Given the description of an element on the screen output the (x, y) to click on. 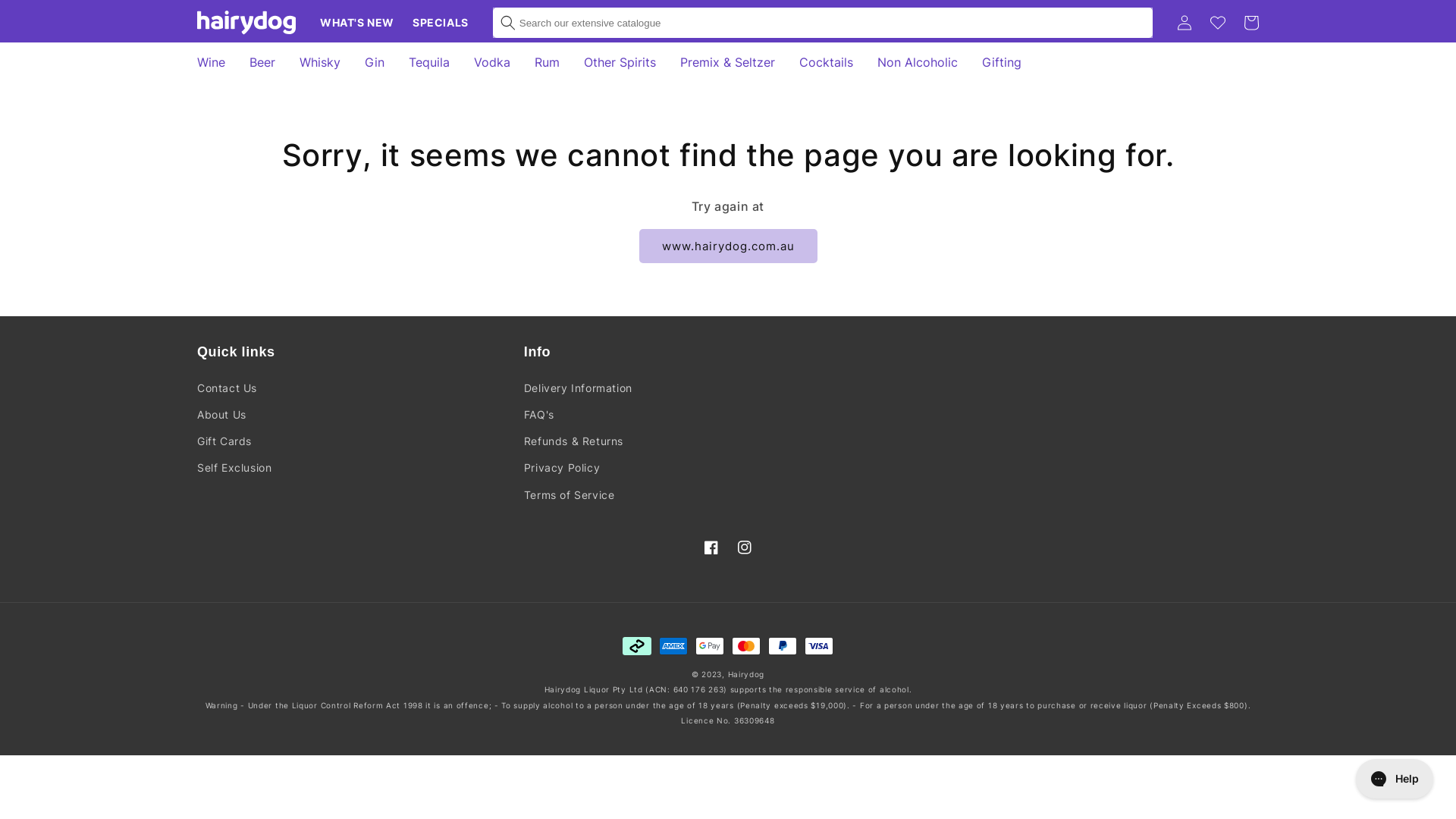
Privacy Policy Element type: text (561, 467)
Gift Cards Element type: text (224, 440)
Log in Element type: text (1184, 22)
FAQ's Element type: text (539, 414)
About Us Element type: text (221, 414)
Instagram Element type: text (744, 547)
Cart Element type: text (1250, 22)
SPECIALS Element type: text (440, 22)
Hairydog Element type: text (746, 673)
www.hairydog.com.au Element type: text (727, 246)
Contact Us Element type: text (227, 389)
Self Exclusion Element type: text (234, 467)
Terms of Service Element type: text (569, 494)
Gorgias live chat messenger Element type: hover (1394, 778)
Delivery Information Element type: text (578, 389)
WHAT'S NEW Element type: text (356, 22)
Facebook Element type: text (711, 547)
Refunds & Returns Element type: text (573, 440)
